Given the description of an element on the screen output the (x, y) to click on. 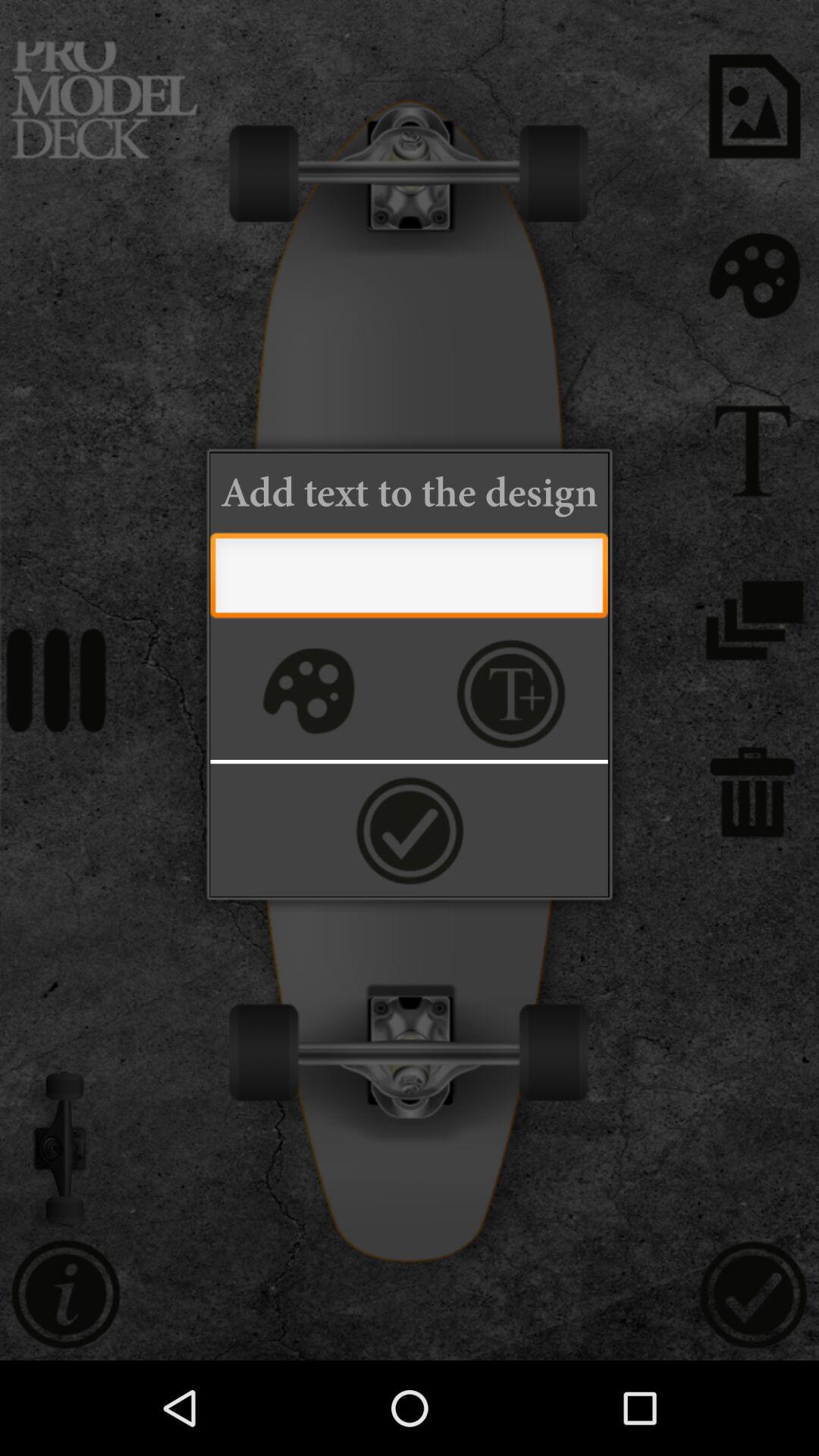
select text (511, 693)
